Given the description of an element on the screen output the (x, y) to click on. 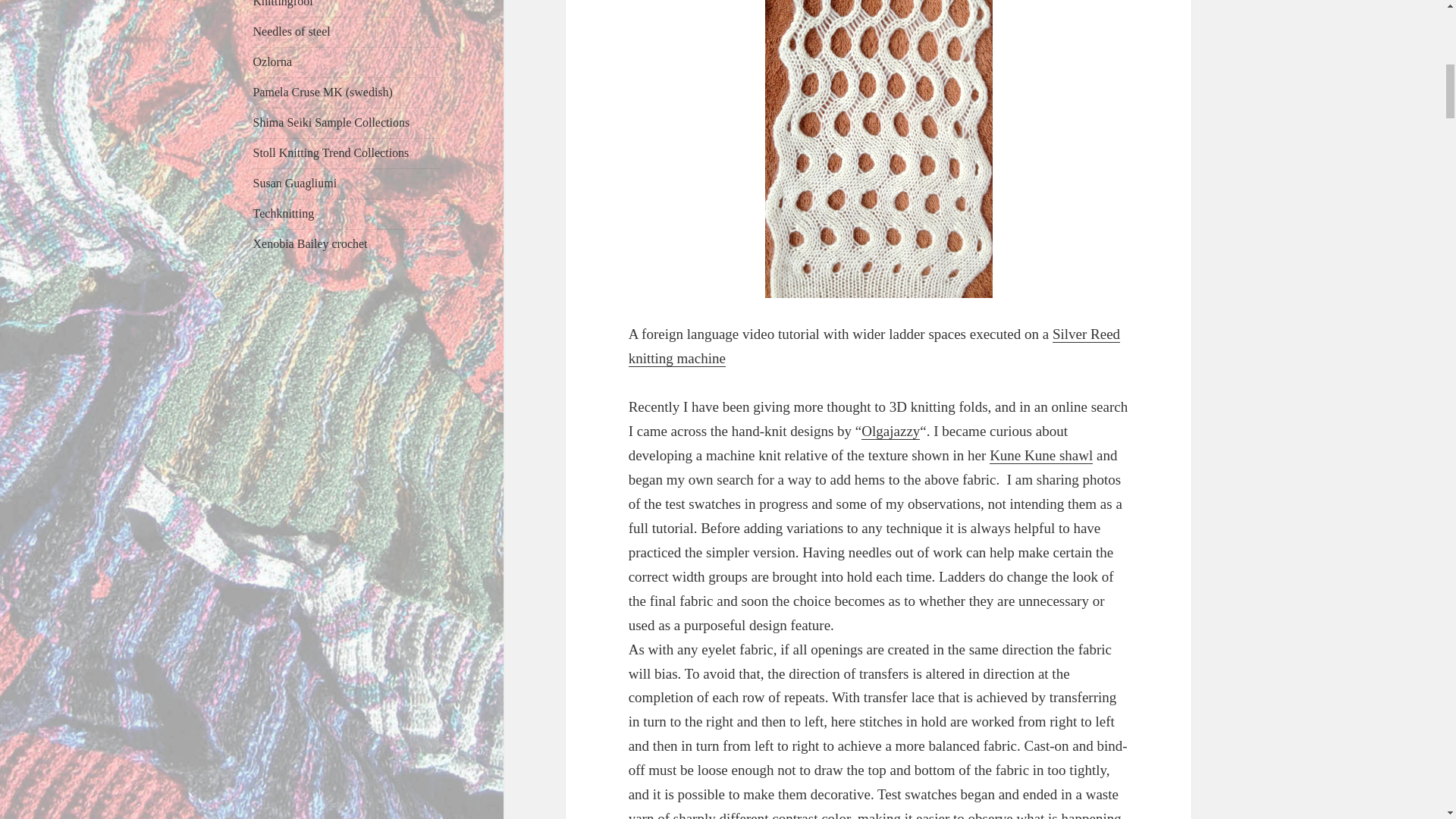
Ozlorna (272, 61)
Silver Reed knitting machine (873, 345)
Olgajazzy (890, 431)
Susan Guagliumi (295, 182)
Knittingfool (283, 3)
Xenobia Bailey crochet (310, 243)
machine knitting resource  (291, 31)
machine knitting information  (272, 61)
Needles of steel (291, 31)
Shima Seiki Sample Collections (331, 122)
compendium of hand knitting stitches and much more (283, 3)
Techknitting (283, 213)
swedish knitting site (323, 91)
Stoll Knitting Trend Collections (331, 152)
Kune Kune shawl (1041, 455)
